Given the description of an element on the screen output the (x, y) to click on. 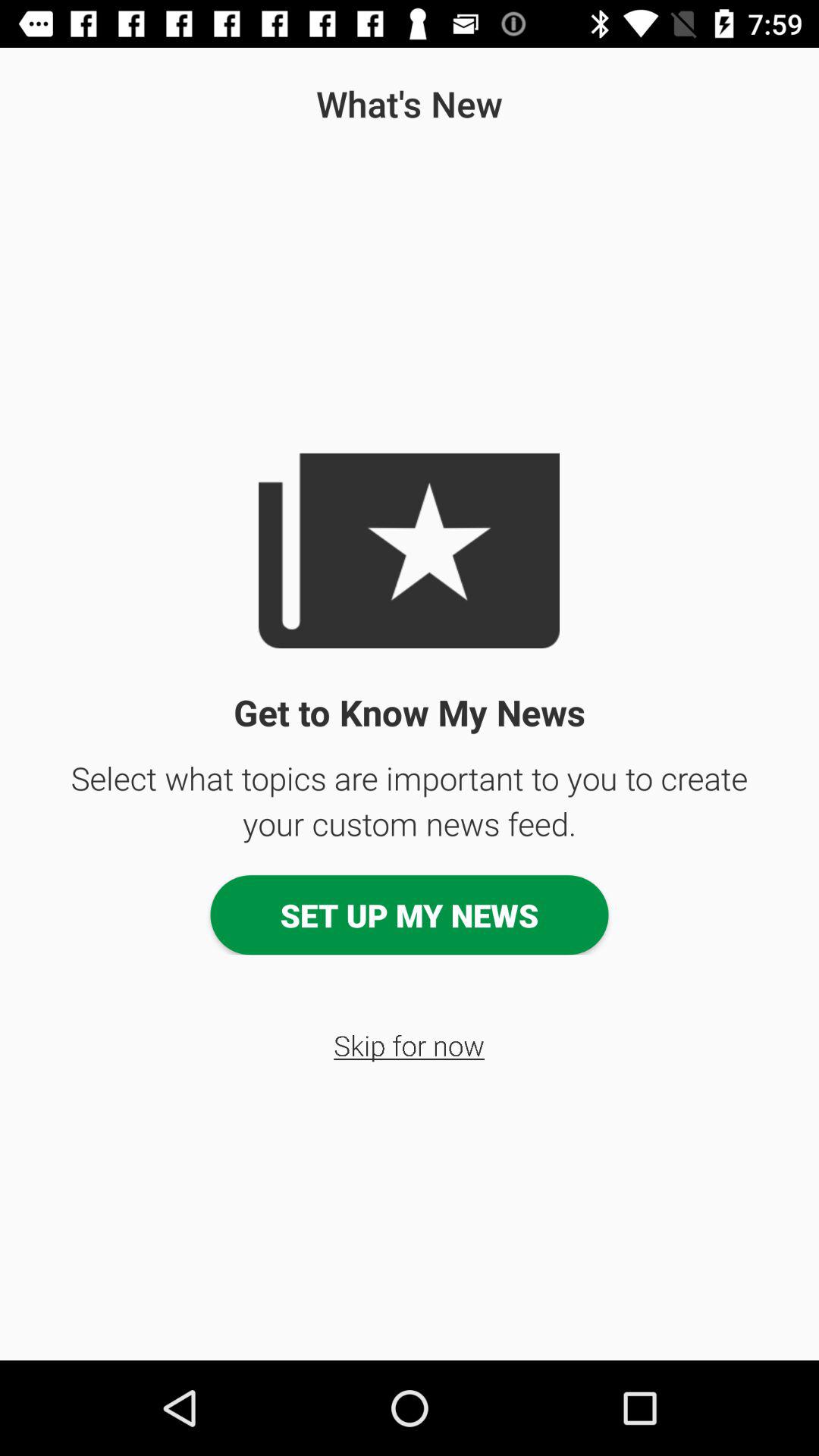
click the button below set up my item (409, 1044)
